Given the description of an element on the screen output the (x, y) to click on. 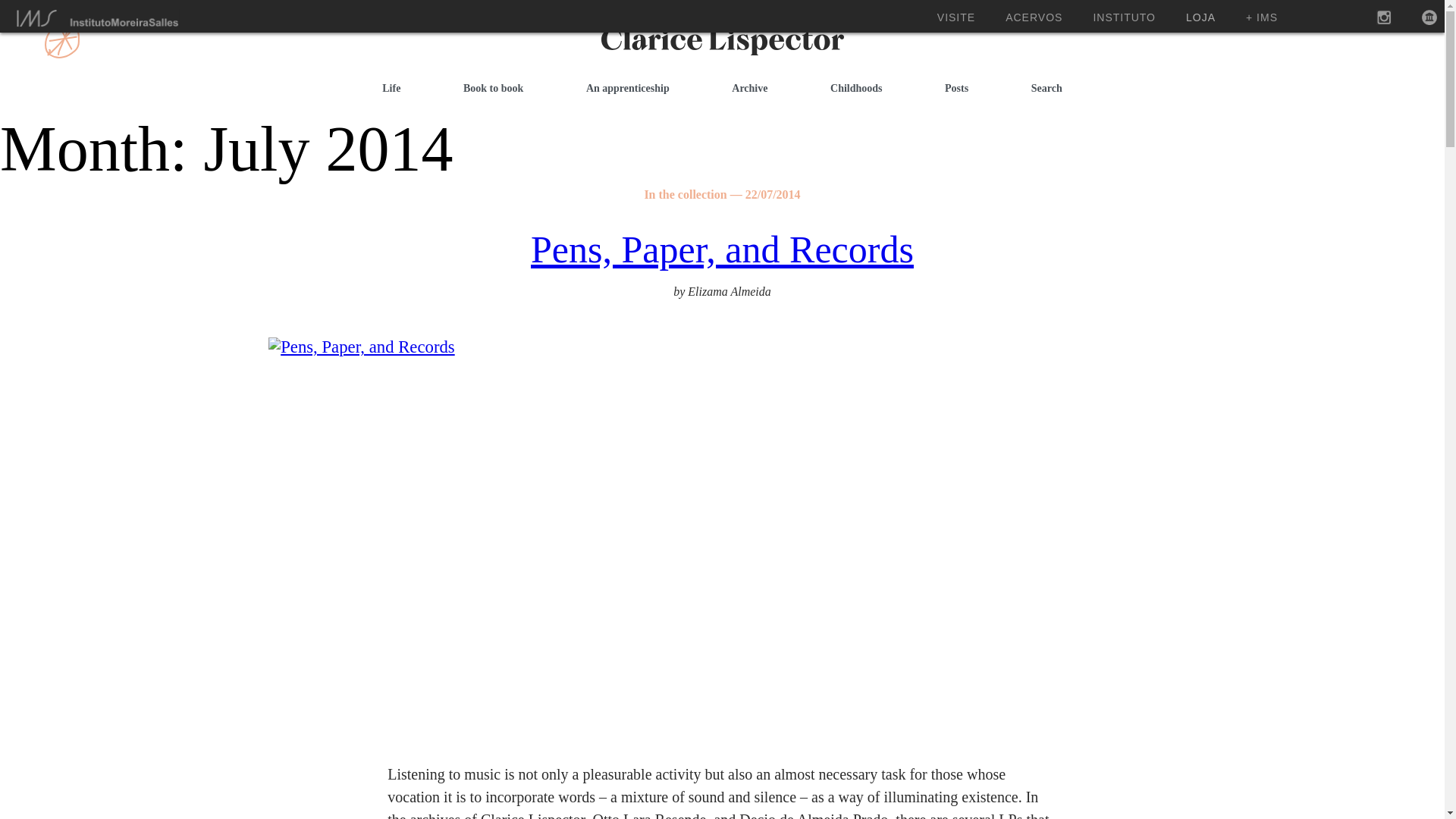
Archive (748, 87)
VISITE (956, 16)
INSTITUTO (1124, 16)
An apprenticeship (627, 87)
Elizama Almeida (728, 291)
Posts (956, 87)
Book to book (493, 87)
Clarice Lispector (659, 64)
Life (390, 87)
LOJA (1200, 16)
